Given the description of an element on the screen output the (x, y) to click on. 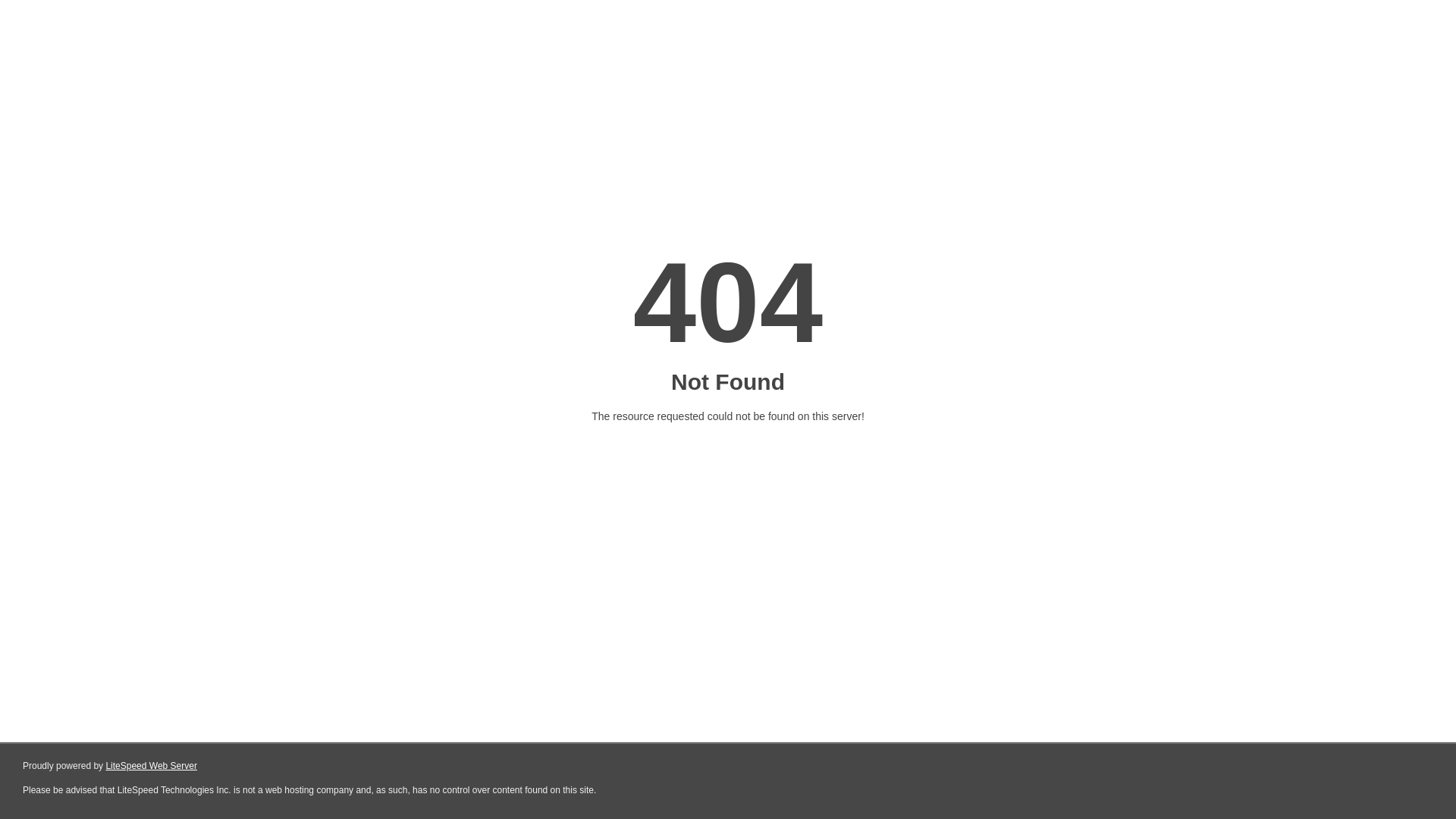
LiteSpeed Web Server Element type: text (151, 765)
